Given the description of an element on the screen output the (x, y) to click on. 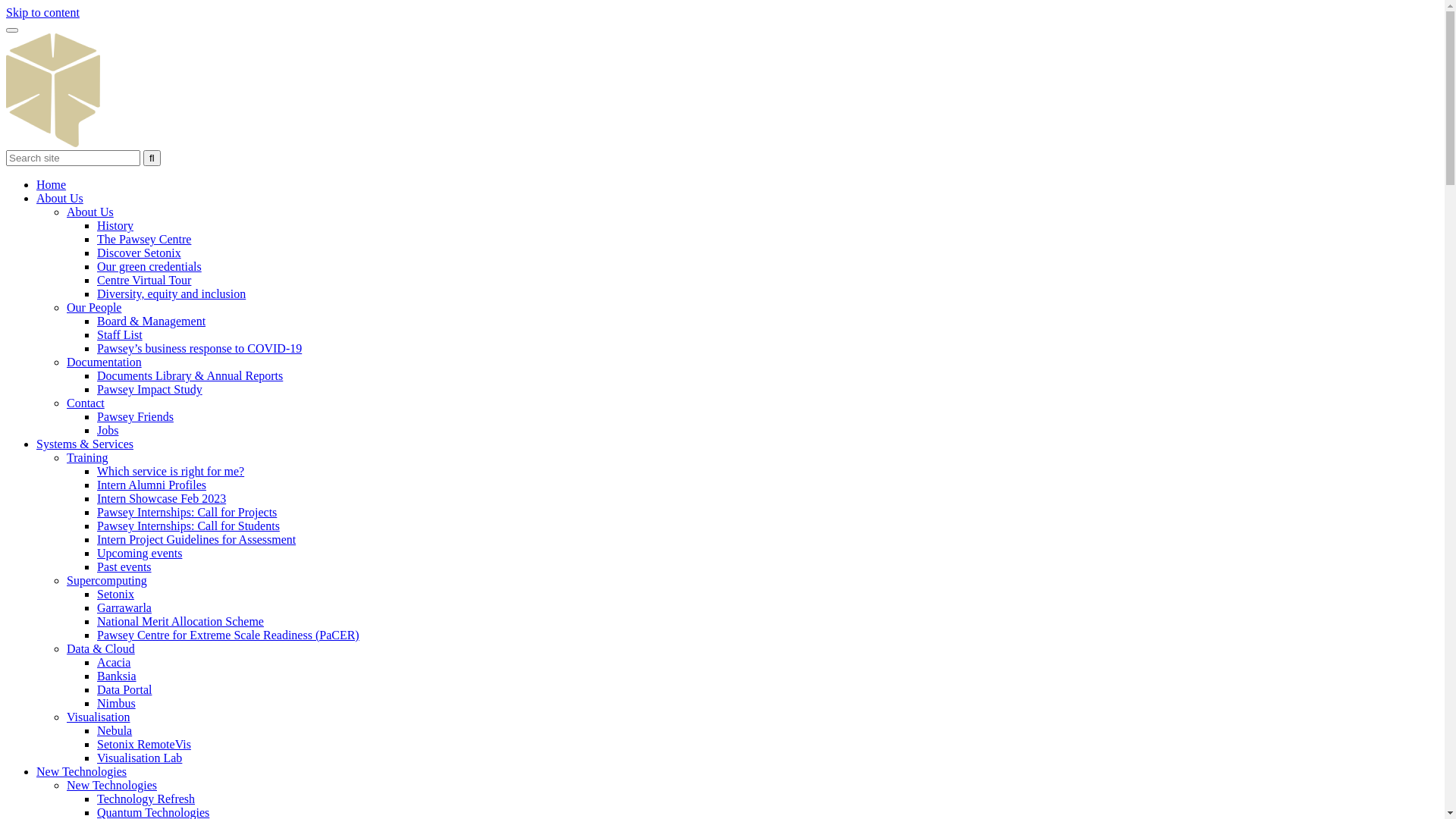
Pawsey Internships: Call for Students Element type: text (188, 525)
Nimbus Element type: text (116, 702)
Skip to content Element type: text (42, 12)
Our green credentials Element type: text (149, 266)
Visualisation Lab Element type: text (139, 757)
Centre Virtual Tour Element type: text (144, 279)
Contact Element type: text (85, 402)
Data Portal Element type: text (124, 689)
Systems & Services Element type: text (84, 443)
Documentation Element type: text (103, 361)
Intern Showcase Feb 2023 Element type: text (161, 498)
Intern Project Guidelines for Assessment Element type: text (196, 539)
Pawsey Internships: Call for Projects Element type: text (186, 511)
Visualisation Element type: text (97, 716)
Jobs Element type: text (107, 429)
Pawsey Centre for Extreme Scale Readiness (PaCER) Element type: text (228, 634)
Our People Element type: text (93, 307)
Pawsey Impact Study Element type: text (149, 388)
Board & Management Element type: text (151, 320)
About Us Element type: text (59, 197)
Acacia Element type: text (113, 661)
History Element type: text (115, 225)
Upcoming events Element type: text (139, 552)
Setonix Element type: text (115, 593)
About Us Element type: text (89, 211)
New Technologies Element type: text (111, 784)
Banksia Element type: text (116, 675)
Nebula Element type: text (114, 730)
Staff List Element type: text (119, 334)
National Merit Allocation Scheme Element type: text (180, 621)
New Technologies Element type: text (81, 771)
Discover Setonix Element type: text (139, 252)
The Pawsey Centre Element type: text (144, 238)
Training Element type: text (87, 457)
Past events Element type: text (124, 566)
Pawsey Friends Element type: text (135, 416)
Data & Cloud Element type: text (100, 648)
Technology Refresh Element type: text (145, 798)
Supercomputing Element type: text (106, 580)
Intern Alumni Profiles Element type: text (151, 484)
Documents Library & Annual Reports Element type: text (189, 375)
Pawsey Supercomputing Research Centre Element type: hover (53, 142)
Garrawarla Element type: text (124, 607)
Setonix RemoteVis Element type: text (144, 743)
Home Element type: text (50, 184)
Which service is right for me? Element type: text (170, 470)
Diversity, equity and inclusion Element type: text (171, 293)
